Given the description of an element on the screen output the (x, y) to click on. 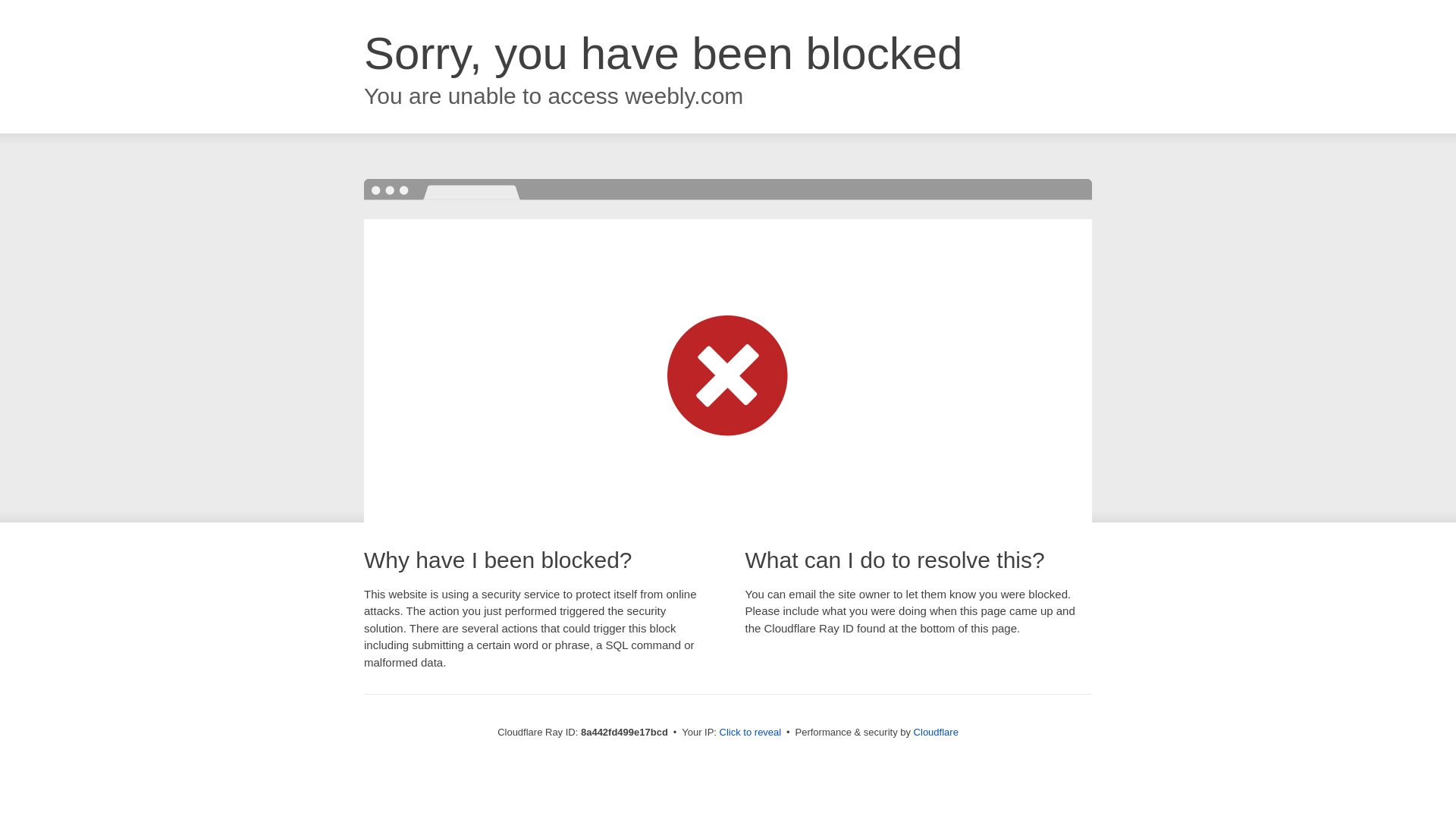
Cloudflare (936, 731)
Click to reveal (750, 732)
